Given the description of an element on the screen output the (x, y) to click on. 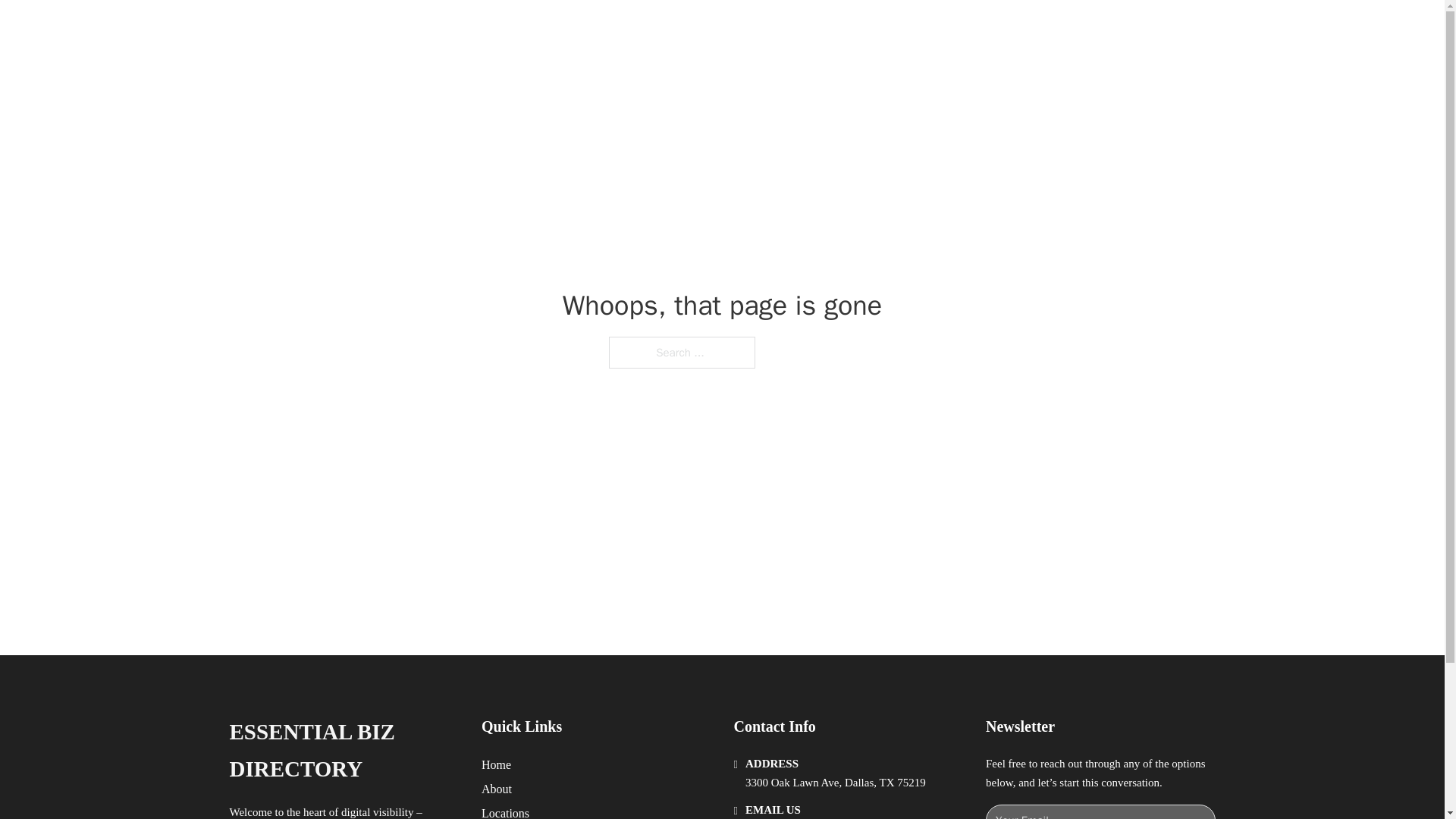
ESSENTIAL BIZ DIRECTORY (343, 750)
About (496, 788)
HOME (907, 29)
LOCATIONS (978, 29)
Locations (505, 811)
Home (496, 764)
